Given the description of an element on the screen output the (x, y) to click on. 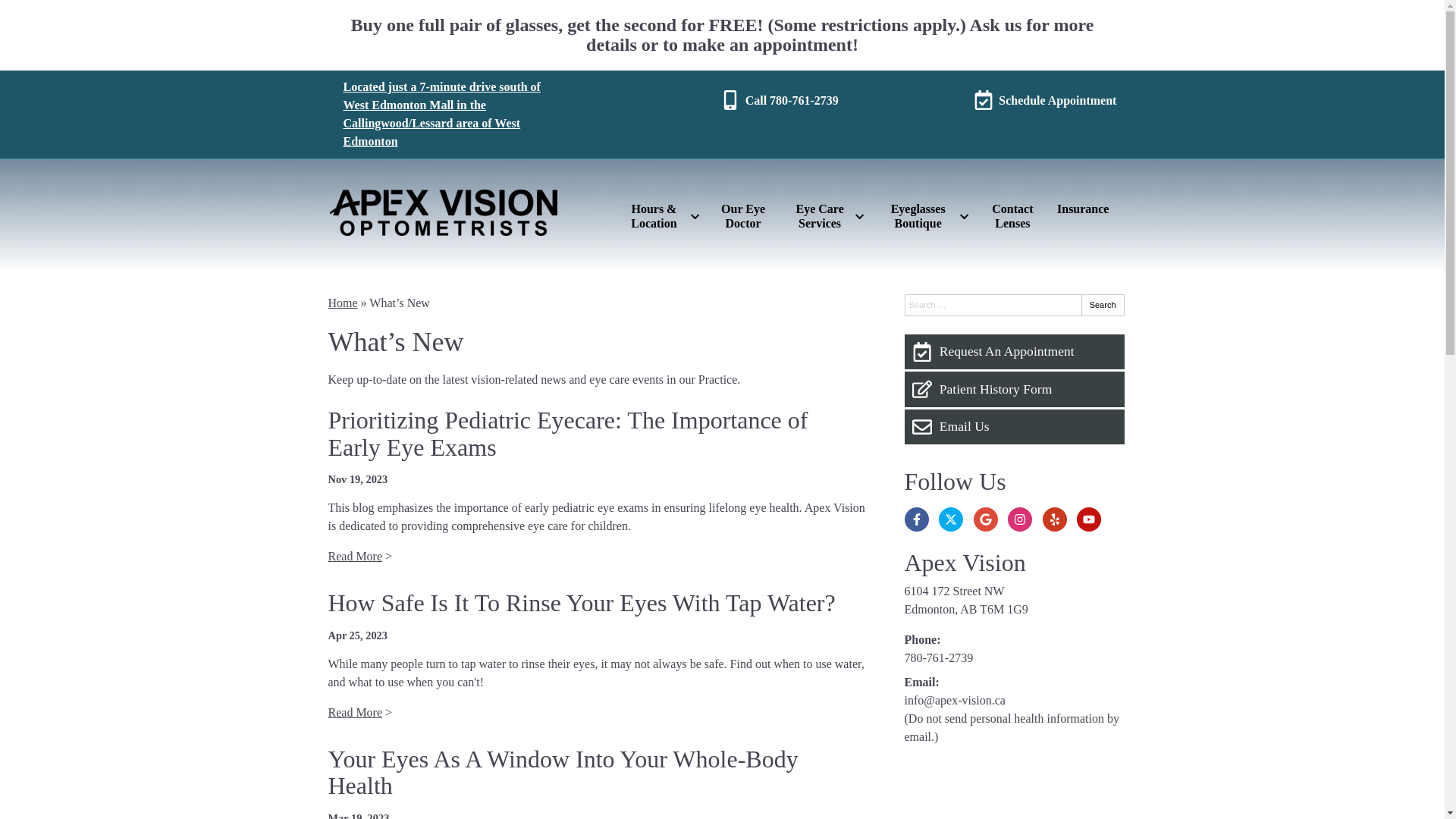
Request An Appointment Element type: text (1013, 351)
Search Element type: text (1102, 305)
Apex Vision Element type: text (964, 562)
Insurance Element type: text (1083, 208)
Eyeglasses Boutique Element type: text (923, 215)
Email Us Element type: text (1013, 426)
Schedule Appointment Element type: text (1044, 100)
Contact Lenses Element type: text (1012, 215)
info@apex-vision.ca Element type: text (953, 699)
780-761-2739 Element type: text (937, 657)
Eye Care Services Element type: text (825, 215)
Read More Element type: text (354, 712)
Patient History Form Element type: text (1013, 388)
Hours & Location Element type: text (659, 215)
Read More Element type: text (354, 555)
How Safe Is It To Rinse Your Eyes With Tap Water? Element type: text (580, 602)
Our Eye Doctor Element type: text (742, 215)
Your Eyes As A Window Into Your Whole-Body Health Element type: text (562, 772)
Call 780-761-2739 Element type: text (779, 100)
Home Element type: text (342, 302)
